Given the description of an element on the screen output the (x, y) to click on. 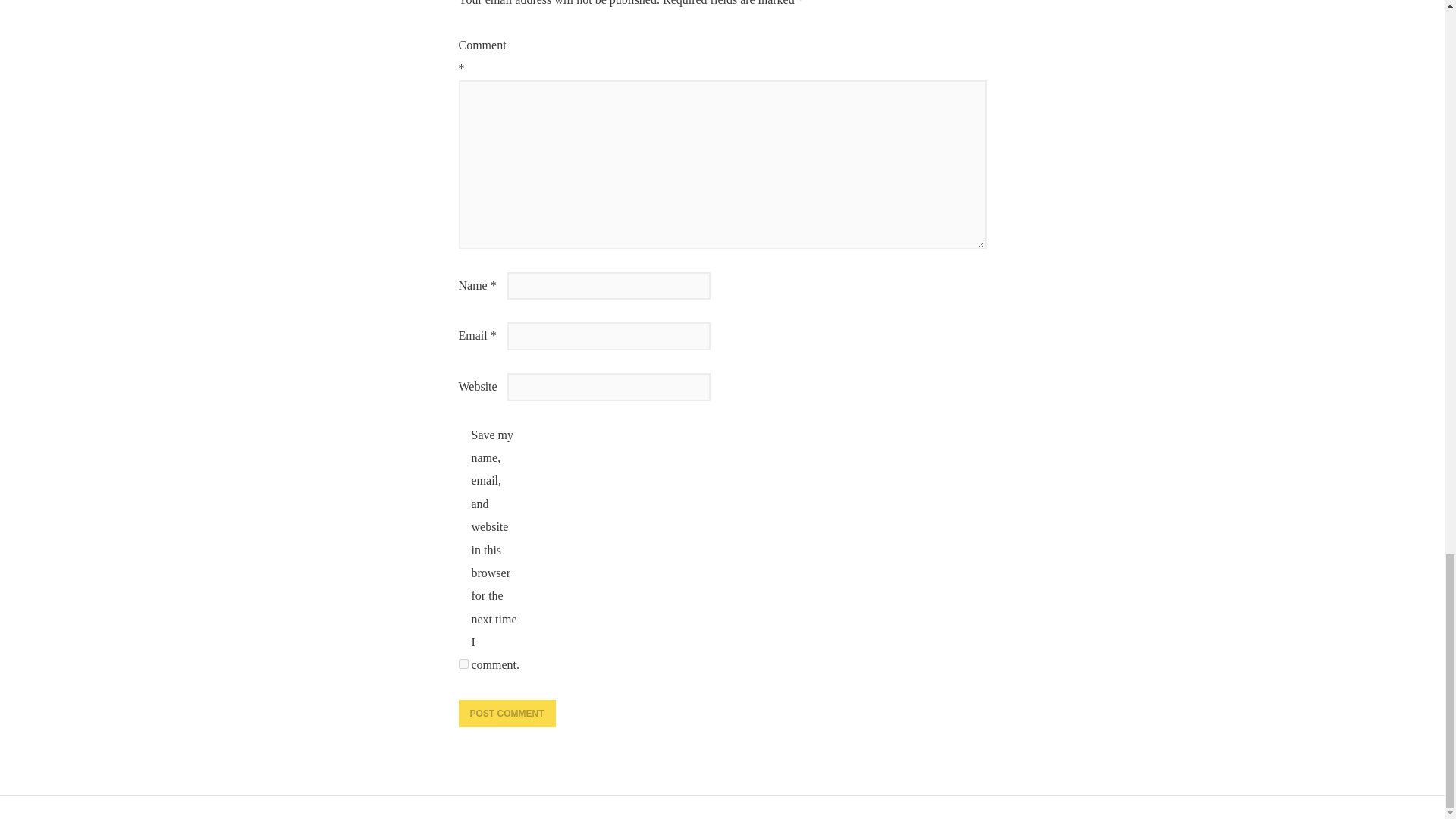
yes (462, 664)
Post Comment (506, 713)
